Given the description of an element on the screen output the (x, y) to click on. 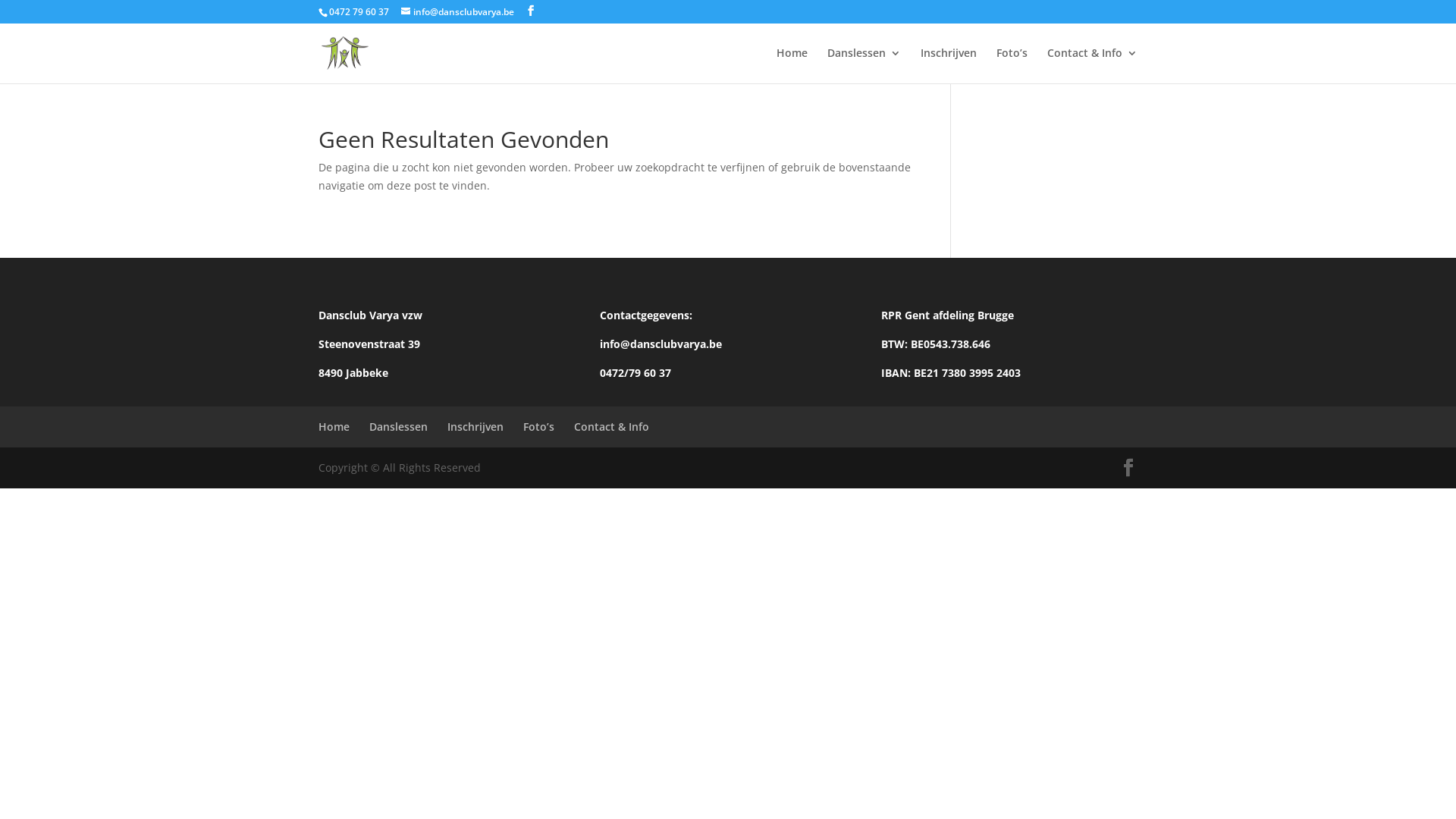
Contact & Info Element type: text (1092, 65)
Home Element type: text (333, 426)
Contact & Info Element type: text (611, 426)
Home Element type: text (791, 65)
info@dansclubvarya.be Element type: text (457, 11)
Inschrijven Element type: text (948, 65)
Danslessen Element type: text (863, 65)
Danslessen Element type: text (398, 426)
Inschrijven Element type: text (475, 426)
